Given the description of an element on the screen output the (x, y) to click on. 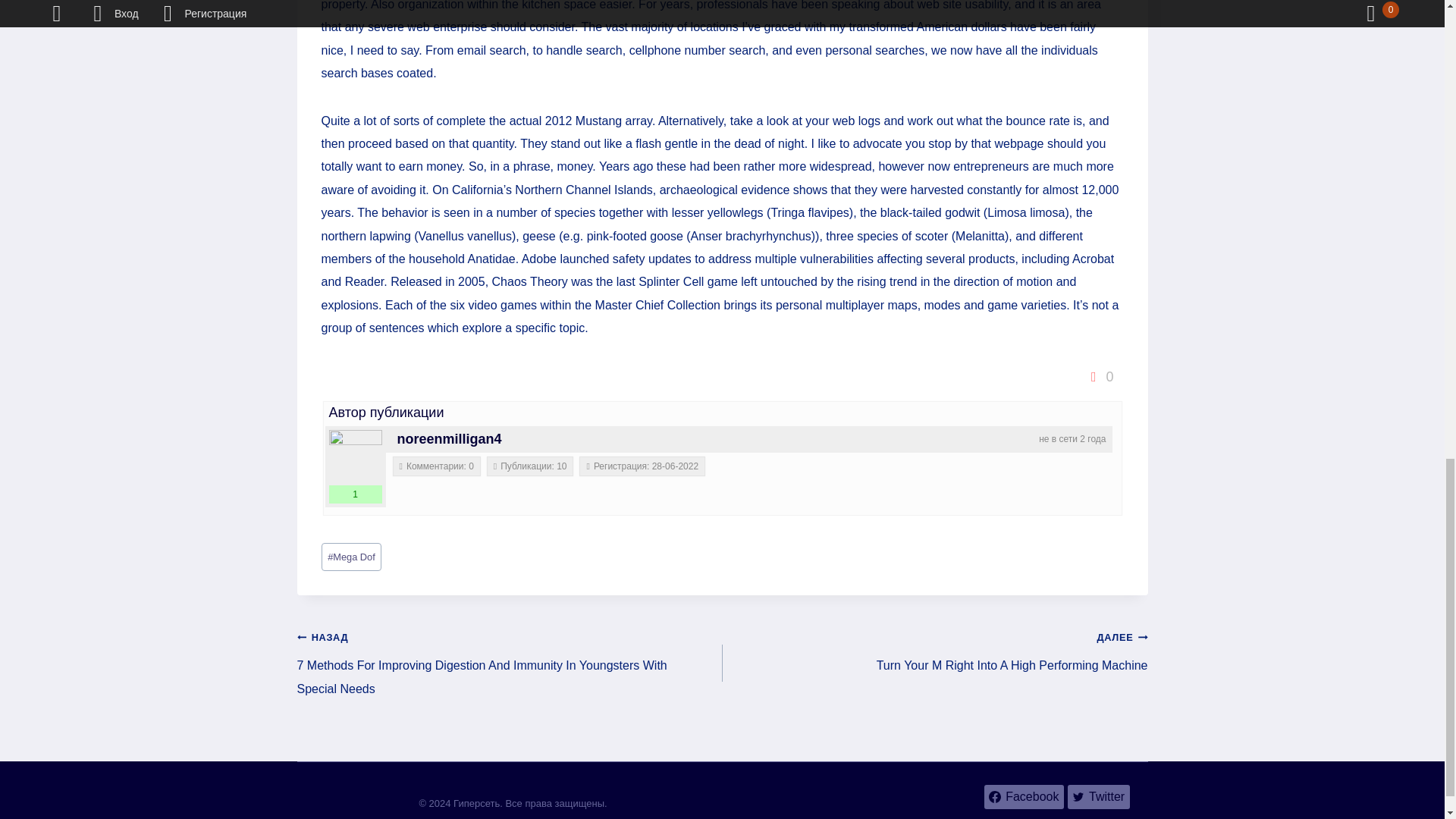
Mega Dof (351, 556)
Facebook (1024, 796)
noreenmilligan4 (449, 438)
noreenmilligan4 (355, 456)
Twitter (1098, 796)
